Given the description of an element on the screen output the (x, y) to click on. 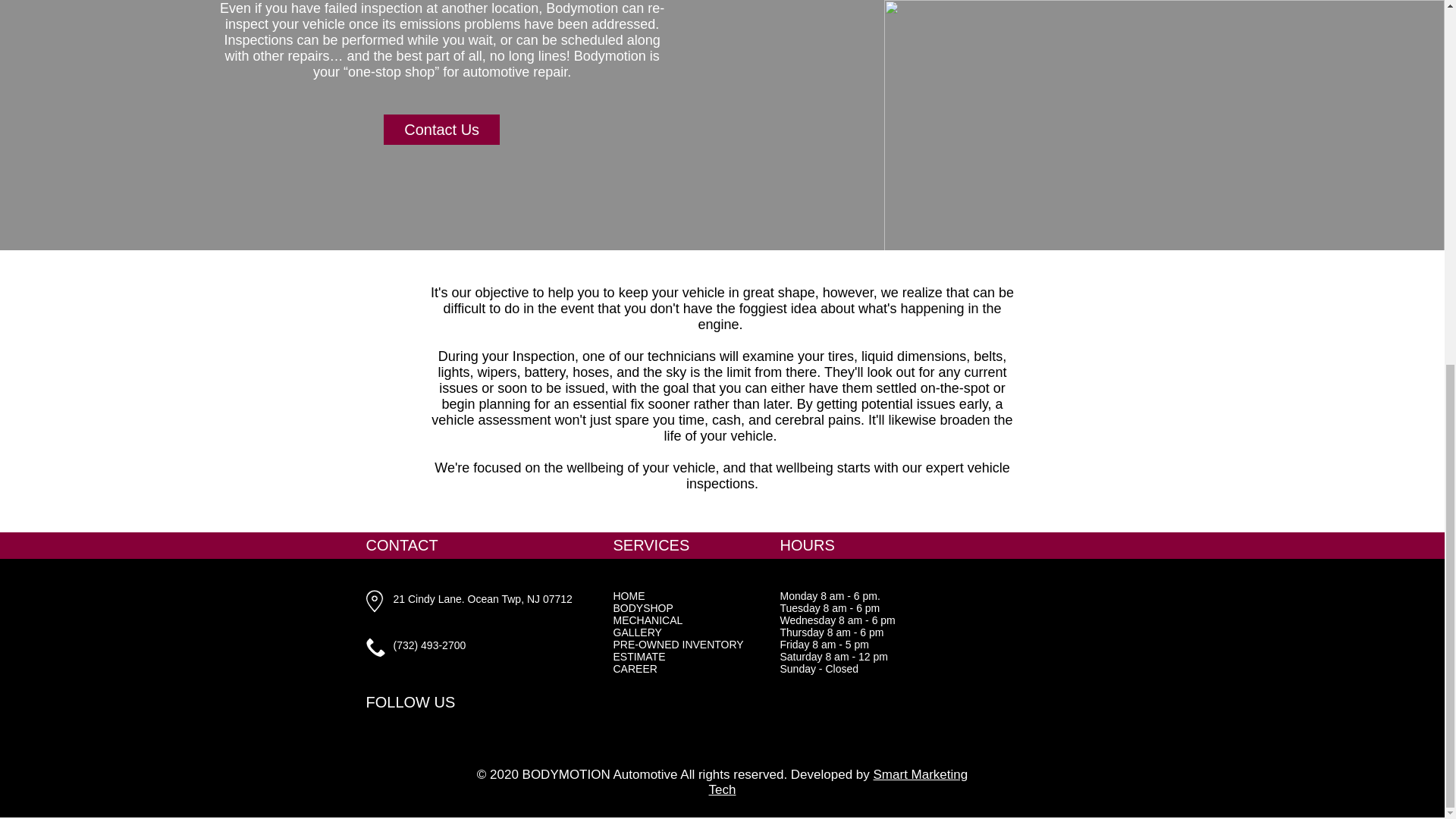
HOME (628, 595)
PRE-OWNED INVENTORY (677, 644)
Contact Us (441, 129)
MECHANICAL (647, 620)
21 Cindy Lane. Ocean Twp, NJ 07712 (482, 598)
GALLERY (636, 632)
BODYSHOP (642, 607)
ESTIMATE (638, 656)
